Given the description of an element on the screen output the (x, y) to click on. 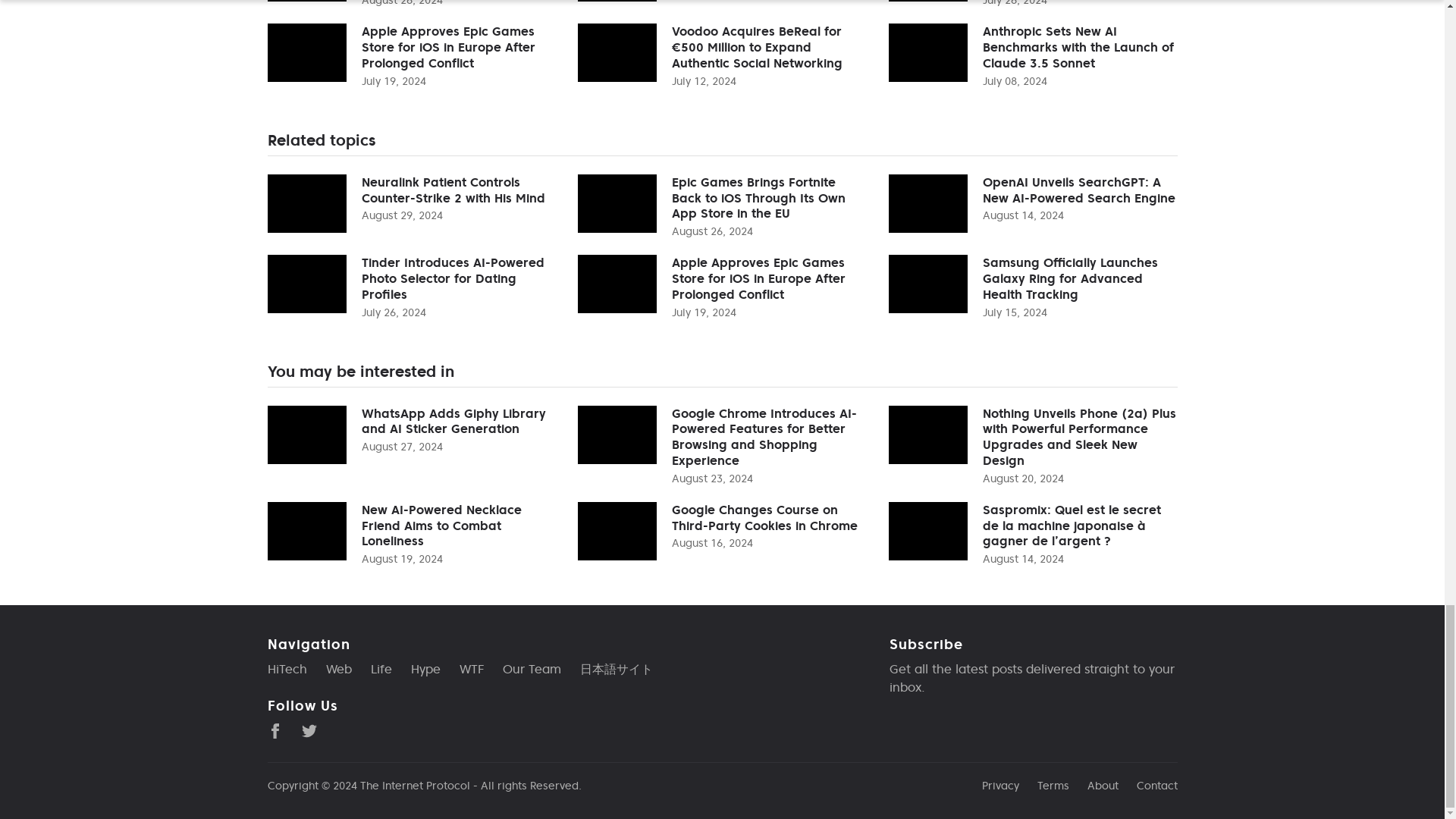
29 August, 2024 (401, 214)
27 August, 2024 (401, 446)
08 July, 2024 (1014, 80)
12 July, 2024 (703, 80)
19 July, 2024 (393, 80)
26 July, 2024 (393, 312)
23 August, 2024 (711, 478)
26 August, 2024 (711, 231)
14 August, 2024 (1023, 214)
26 July, 2024 (1014, 3)
